Given the description of an element on the screen output the (x, y) to click on. 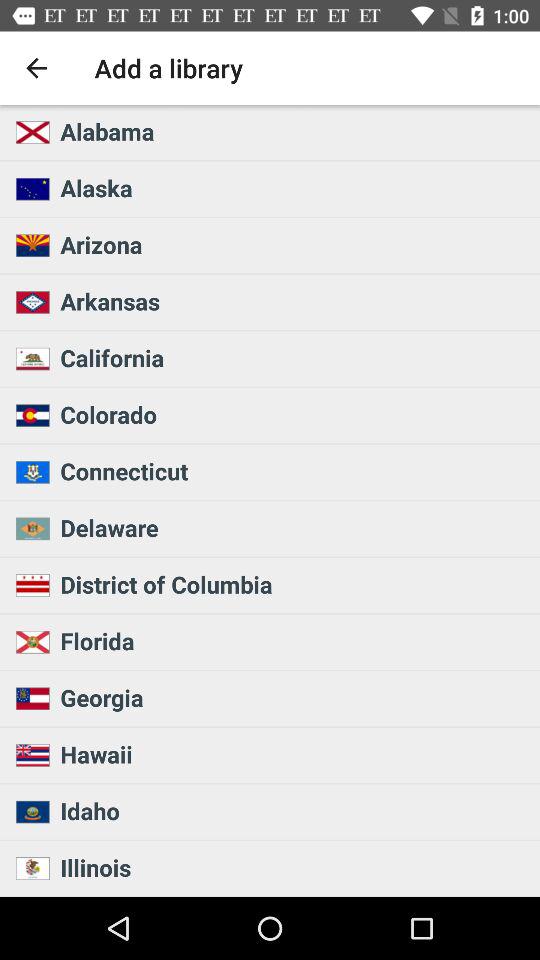
press alaska icon (294, 188)
